Given the description of an element on the screen output the (x, y) to click on. 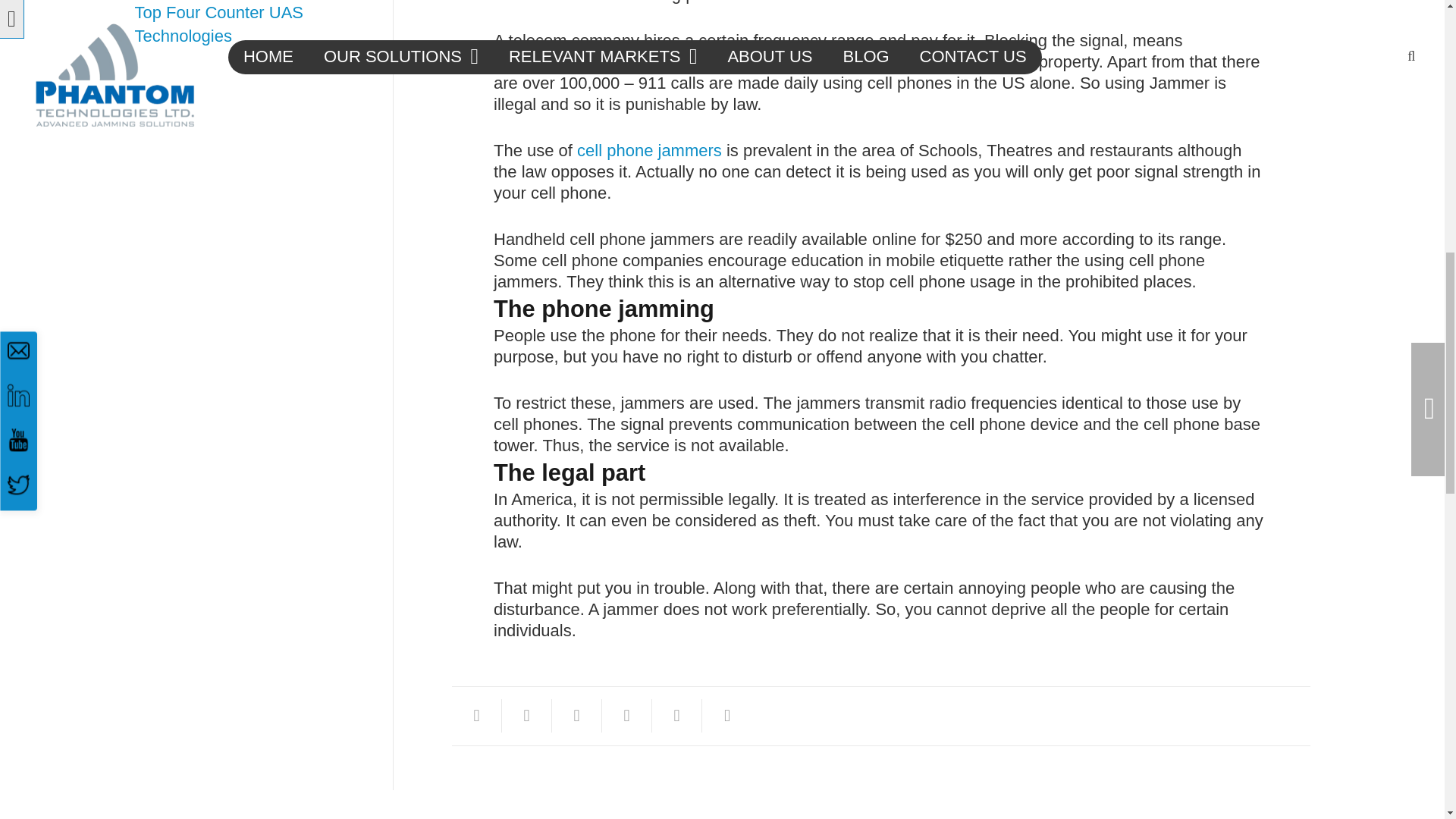
Email this (476, 715)
Share this (526, 715)
Share this (726, 715)
Pin this (676, 715)
Tweet this (576, 715)
Share this (627, 715)
